Given the description of an element on the screen output the (x, y) to click on. 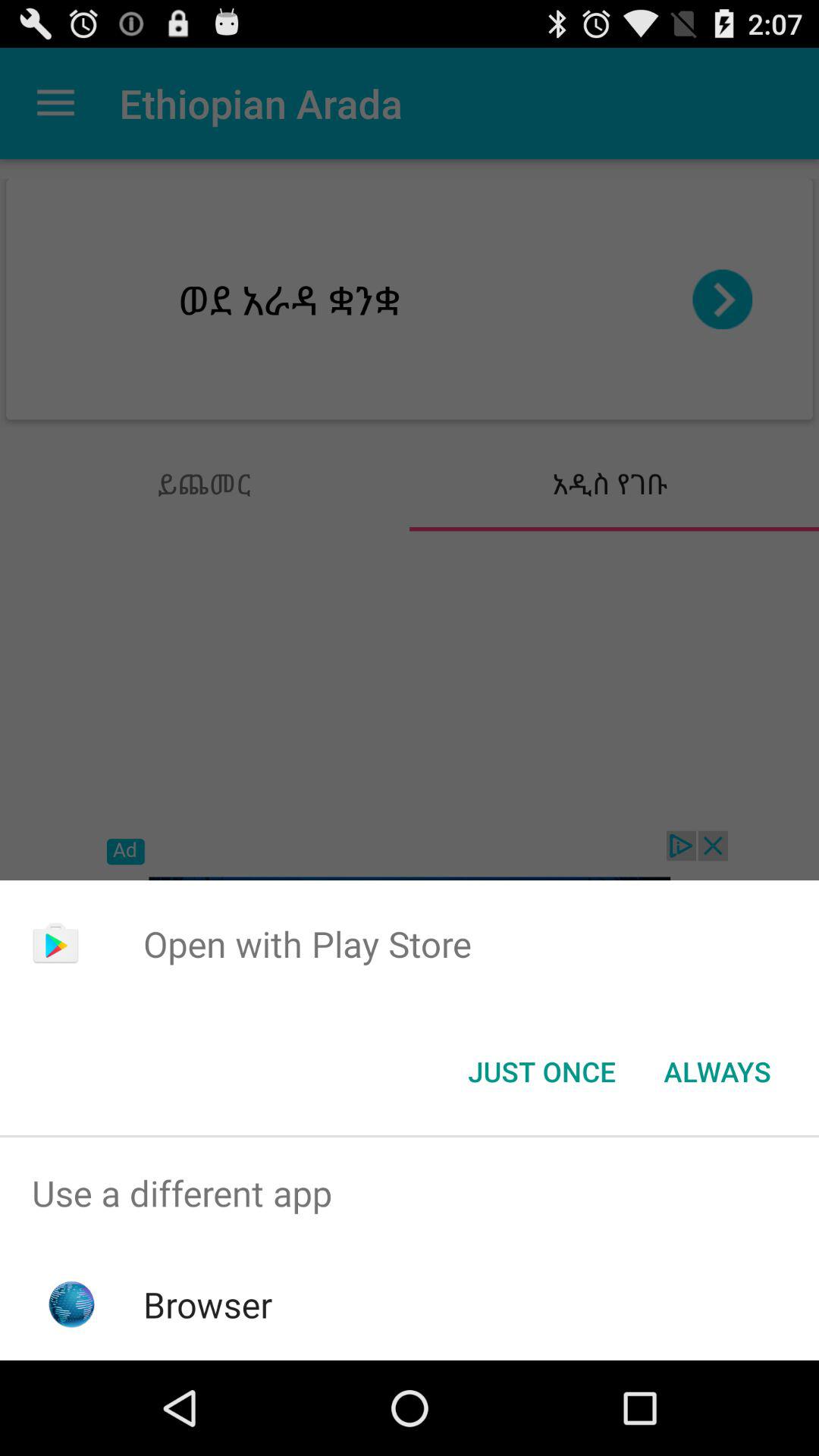
select button to the right of the just once icon (717, 1071)
